Given the description of an element on the screen output the (x, y) to click on. 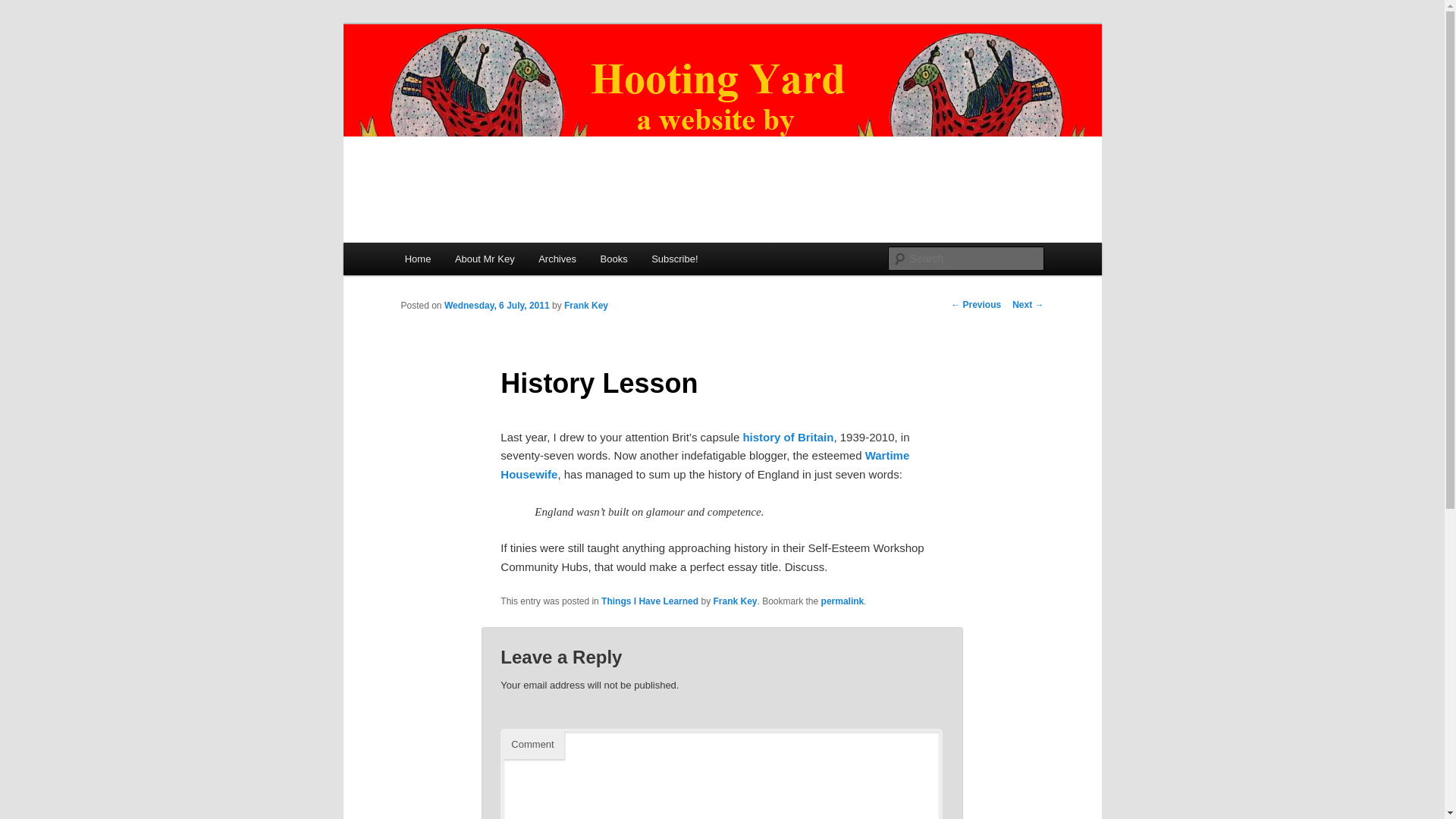
About Mr Key (483, 258)
permalink (842, 601)
Books (614, 258)
Wartime Housewife (704, 463)
1:32 pm (497, 305)
Frank Key (586, 305)
View all posts by Frank Key (586, 305)
Home (417, 258)
history of Britain (787, 436)
Wednesday, 6 July, 2011 (497, 305)
Search (24, 8)
Hooting Yard (470, 78)
Permalink to History Lesson (842, 601)
Things I Have Learned (649, 601)
